Given the description of an element on the screen output the (x, y) to click on. 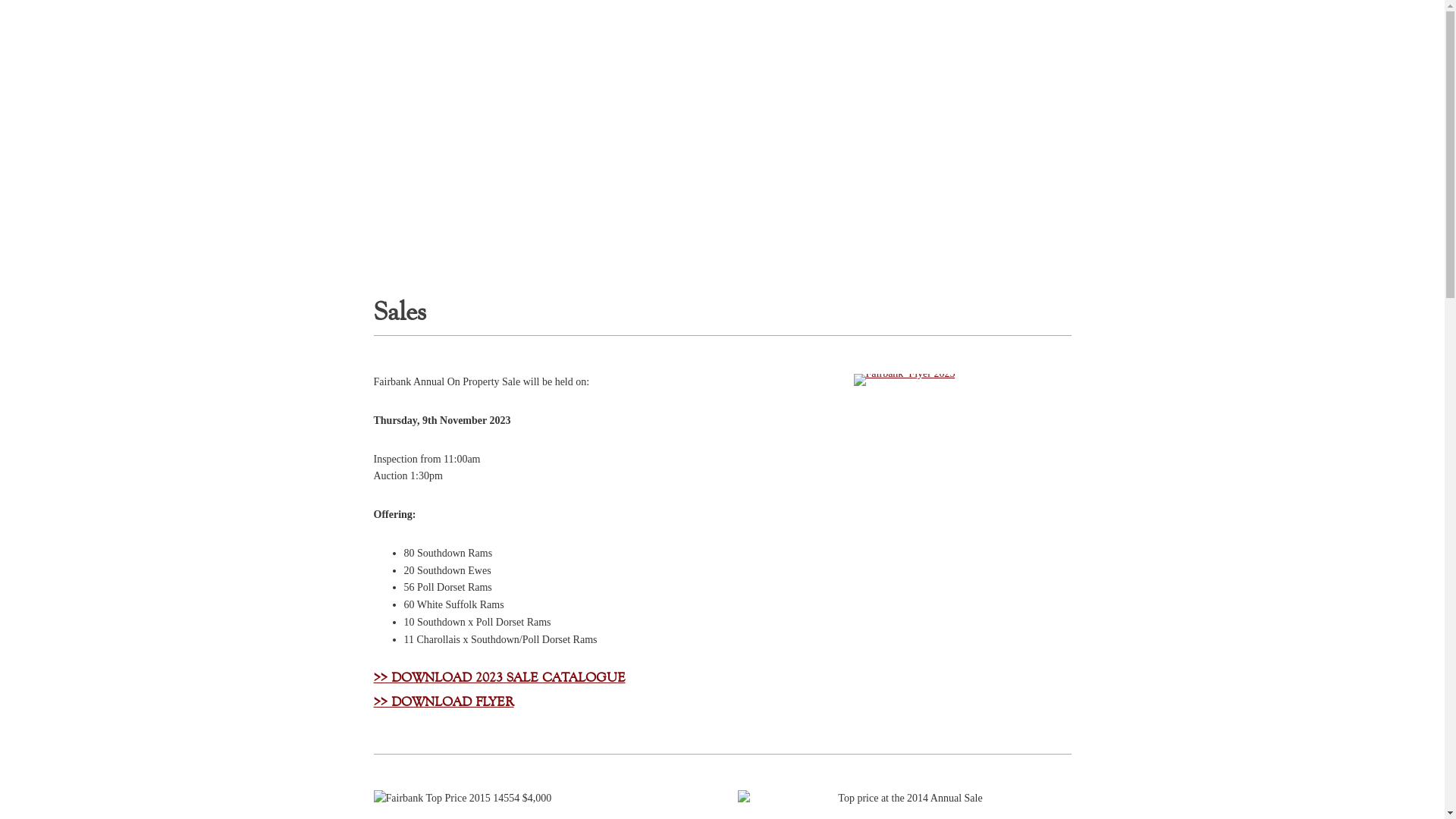
POLL DORSETS Element type: text (541, 25)
FIRST CROSS Element type: text (895, 25)
Fairbank Prime Lamb Sires Element type: text (721, 183)
HOME Element type: text (370, 25)
CONTACT Element type: text (1062, 25)
>> DOWNLOAD 2023 SALE CATALOGUE Element type: text (498, 676)
Fairbank_Flyer 2023 Element type: hover (904, 379)
>> DOWNLOAD FLYER Element type: text (443, 701)
ABOUT Element type: text (443, 25)
SALES Element type: text (982, 25)
SOUTHDOWN Element type: text (784, 25)
WHITE SUFFOLK Element type: text (664, 25)
